Given the description of an element on the screen output the (x, y) to click on. 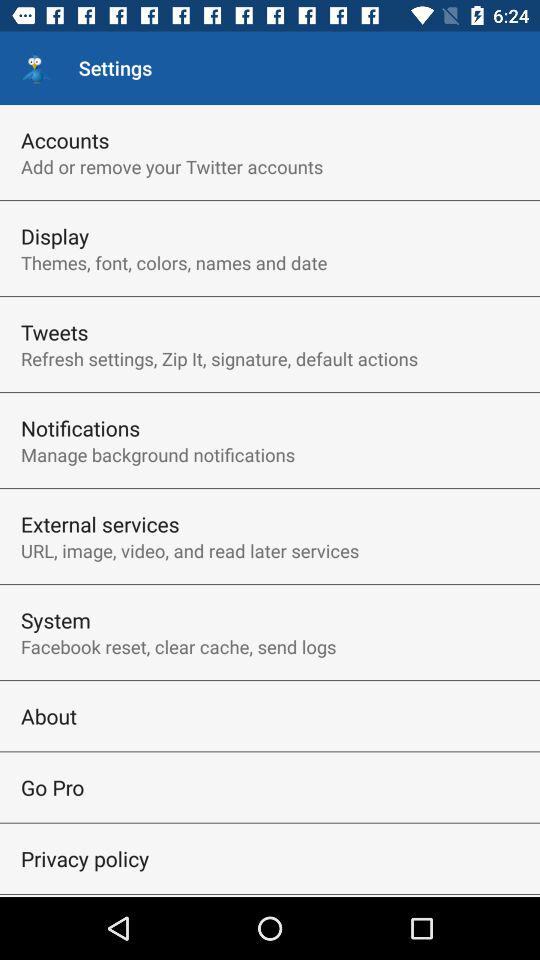
launch the themes font colors (174, 262)
